Given the description of an element on the screen output the (x, y) to click on. 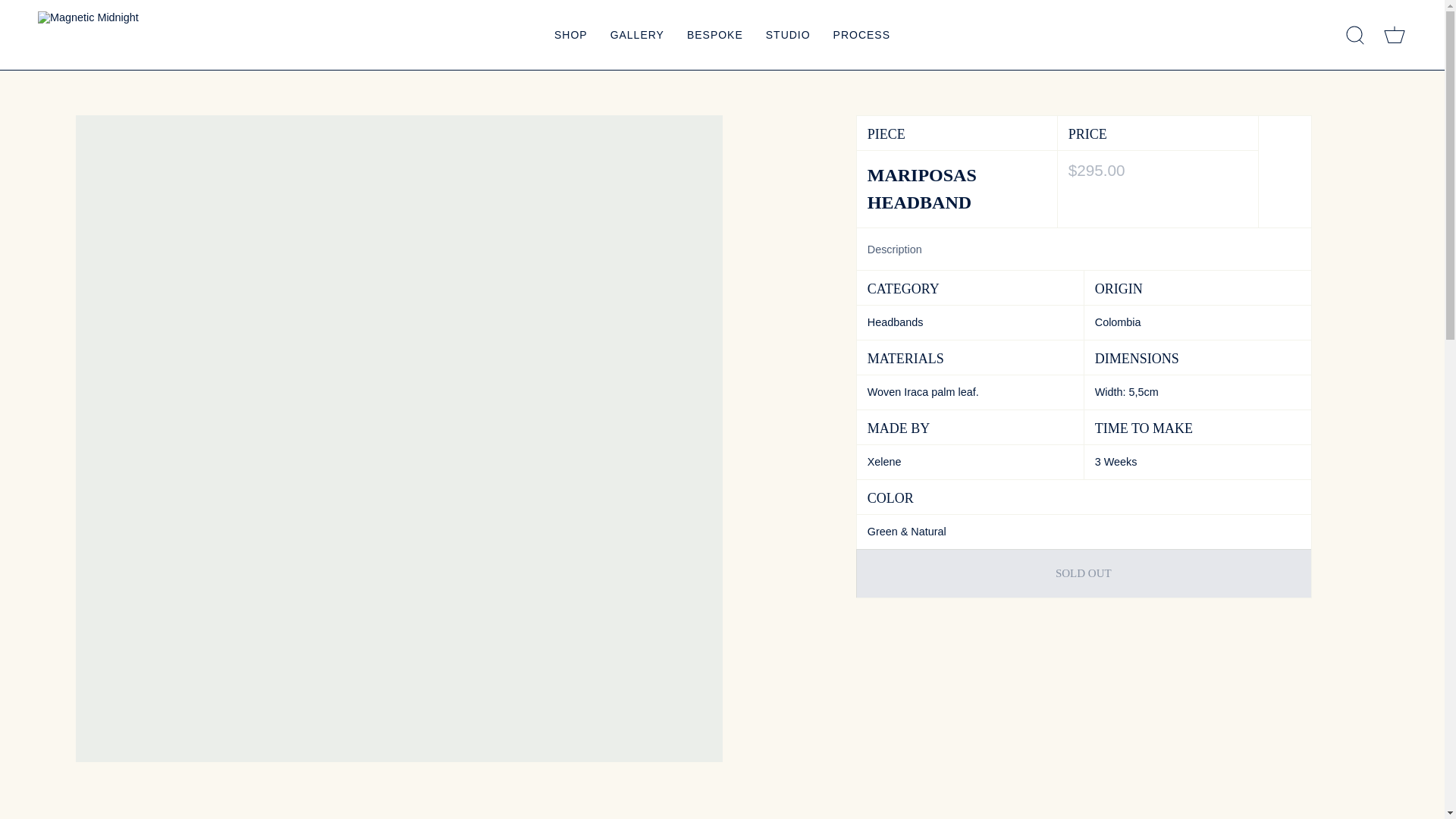
GALLERY (636, 34)
Search (1354, 34)
Cart (1393, 34)
BESPOKE (714, 34)
STUDIO (788, 34)
Search (1354, 34)
SHOP (570, 34)
Cart (1393, 34)
PROCESS (861, 34)
